Given the description of an element on the screen output the (x, y) to click on. 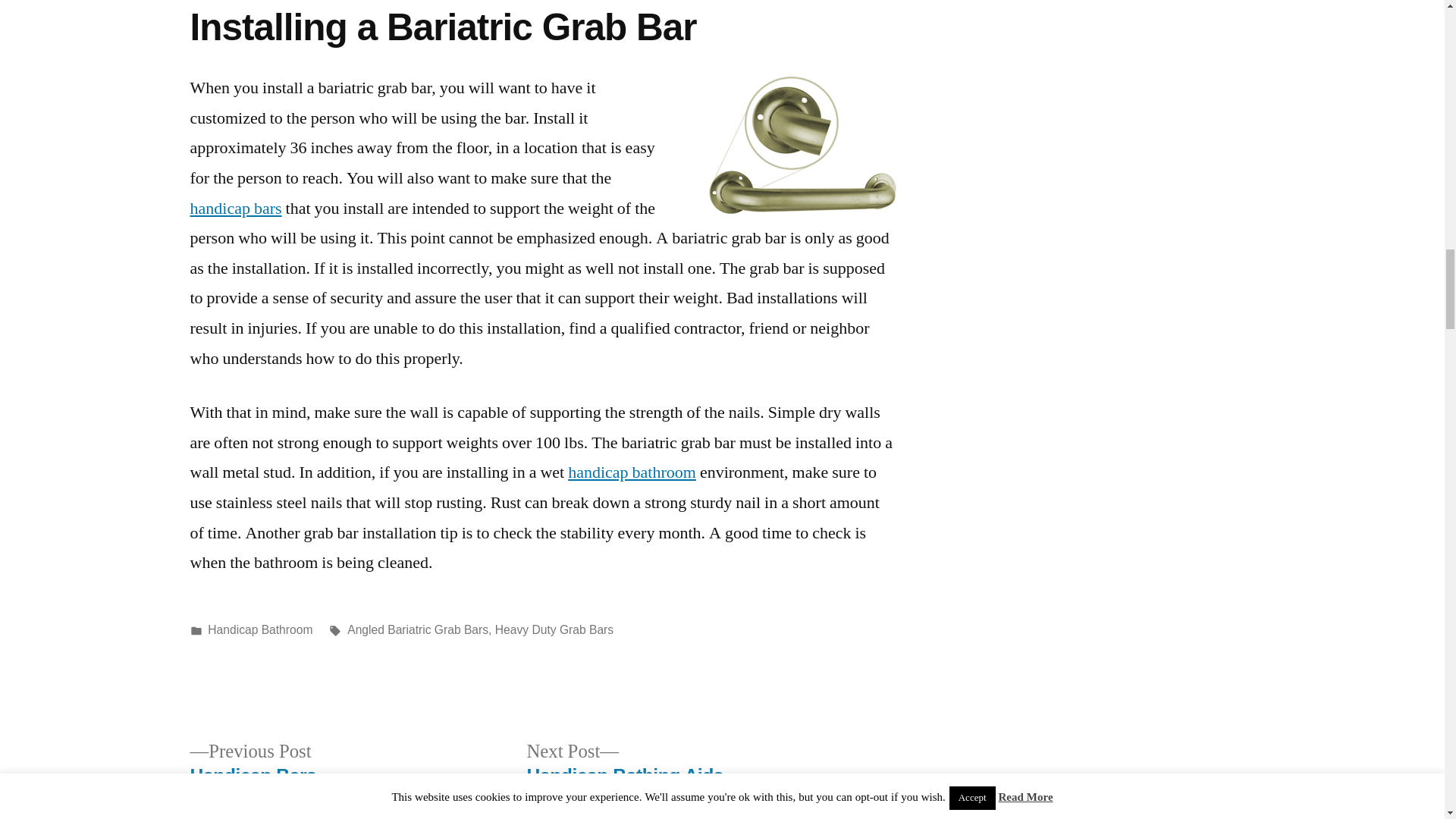
handicap bathroom (631, 472)
Handicap Bathroom (624, 763)
Heavy Duty Grab Bars (260, 629)
install-grab-bars (553, 629)
handicap bars (252, 763)
handicap bars (801, 145)
Angled Bariatric Grab Bars (235, 208)
handicap bathroom (235, 208)
